Given the description of an element on the screen output the (x, y) to click on. 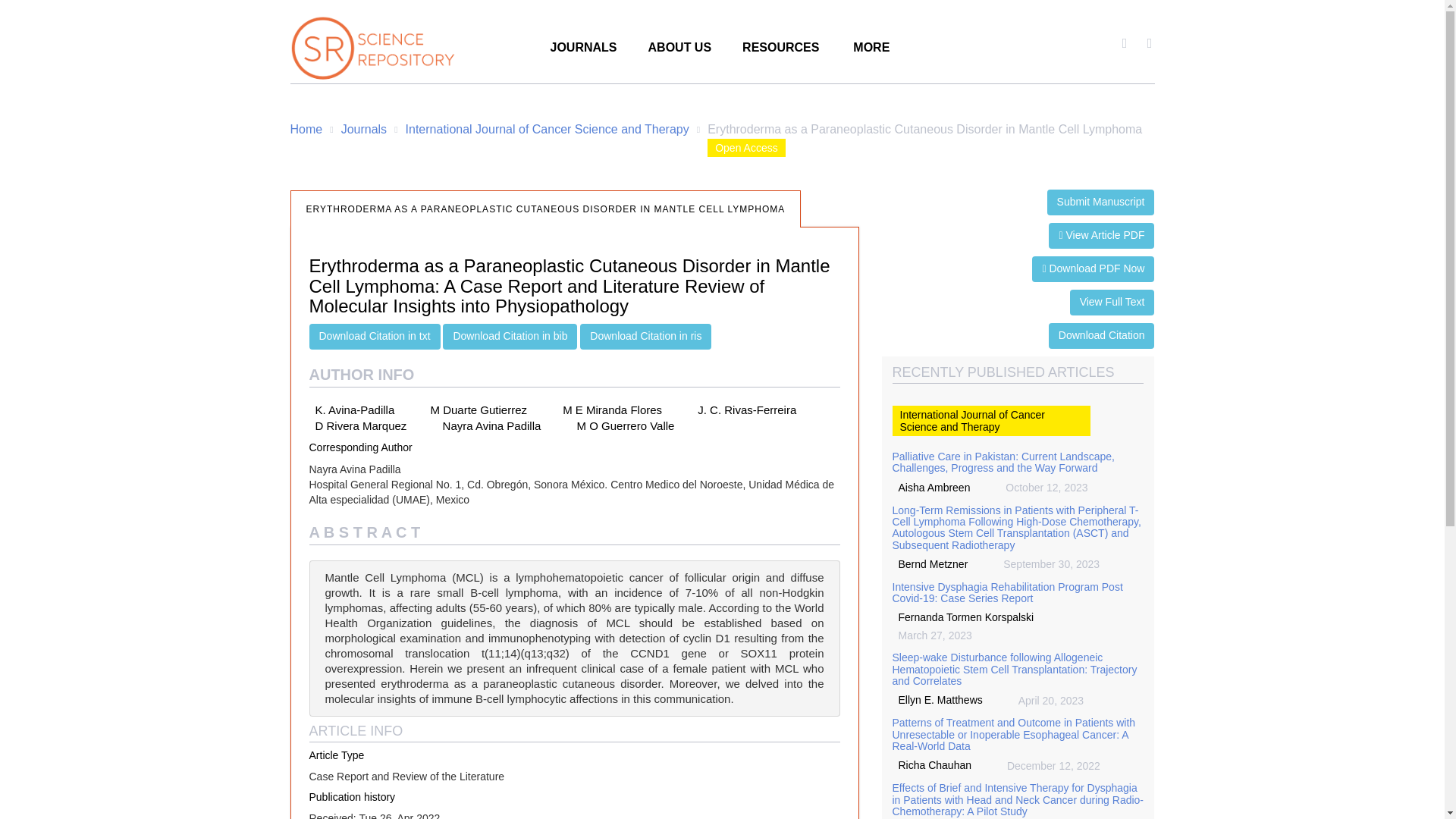
RESOURCES (780, 51)
ABOUT US (679, 51)
Home (305, 128)
Home (305, 128)
International Journal of Cancer Science and Therapy (547, 128)
Journals (363, 128)
International Journal of Cancer Science and Therapy (990, 420)
About Us Science Repository (679, 51)
Twitter (1149, 42)
JOURNALS (583, 51)
Facebook (1124, 42)
International Journal of Cancer Science and Therapy (547, 128)
Open Access (746, 147)
